Given the description of an element on the screen output the (x, y) to click on. 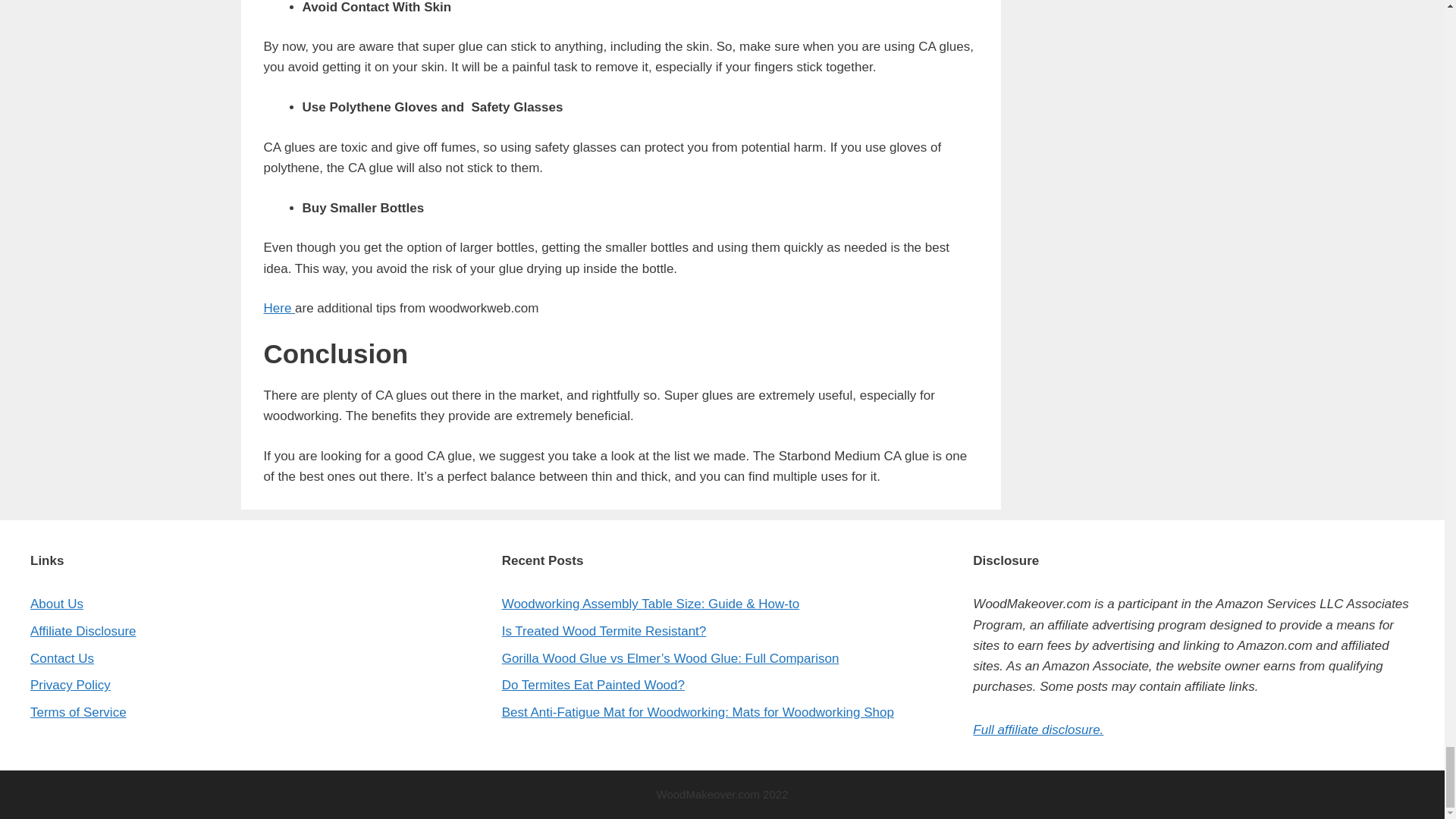
Is Treated Wood Termite Resistant? (604, 631)
Affiliate Disclosure (83, 631)
Do Termites Eat Painted Wood? (593, 685)
Terms of Service (78, 712)
Contact Us (62, 658)
Full affiliate disclosure. (1037, 729)
Here (279, 308)
About Us (56, 603)
Privacy Policy (70, 685)
